Given the description of an element on the screen output the (x, y) to click on. 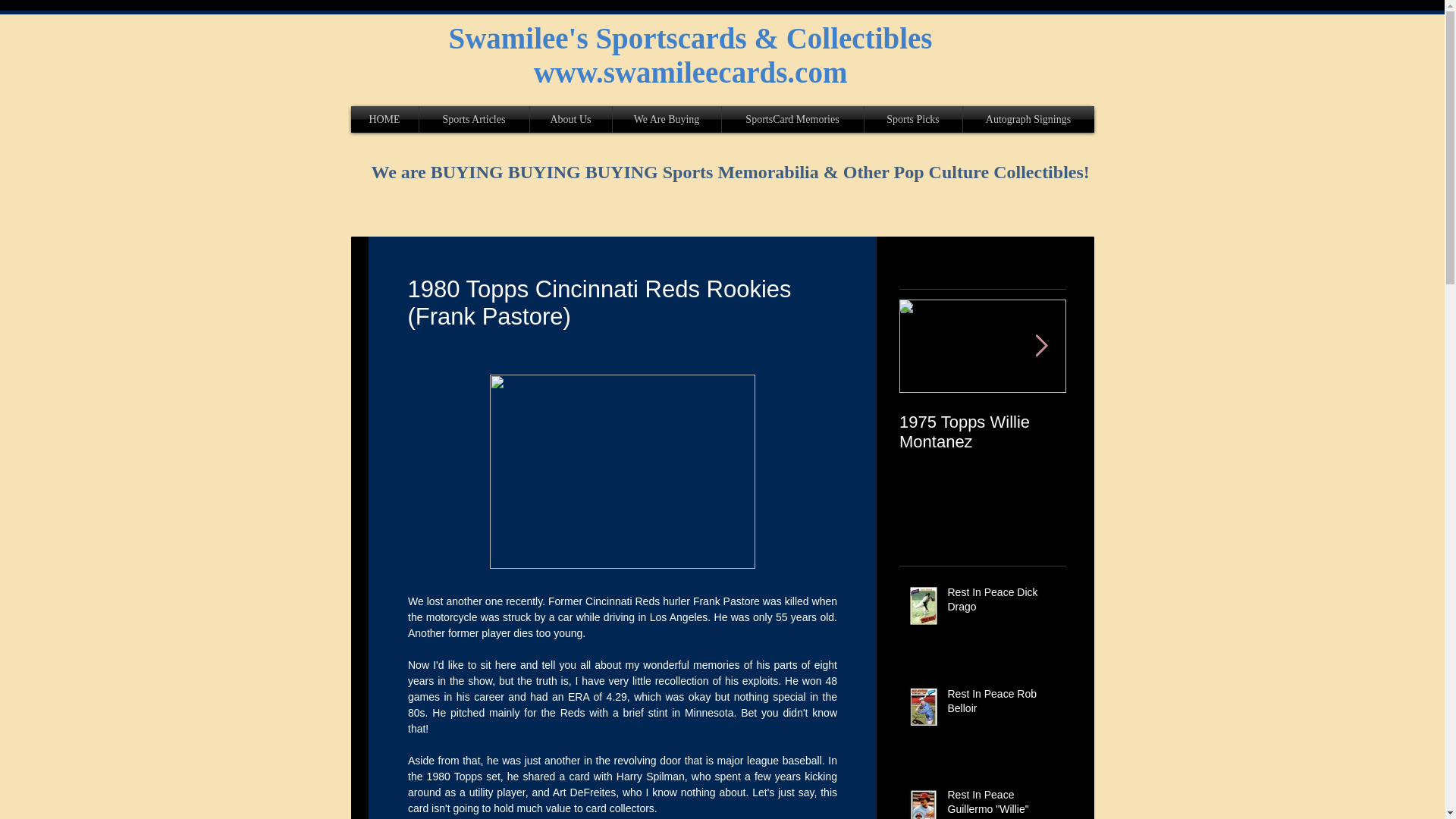
Rest In Peace Rob Belloir (1002, 704)
Rest In Peace Dick Drago (1002, 602)
www.swamileecards.com (690, 72)
1975 Topps Willie Montanez (982, 432)
Rest In Peace Guillermo "Willie" Hernandez (1002, 803)
1974 Topps Fritz Peterson (1149, 432)
